Given the description of an element on the screen output the (x, y) to click on. 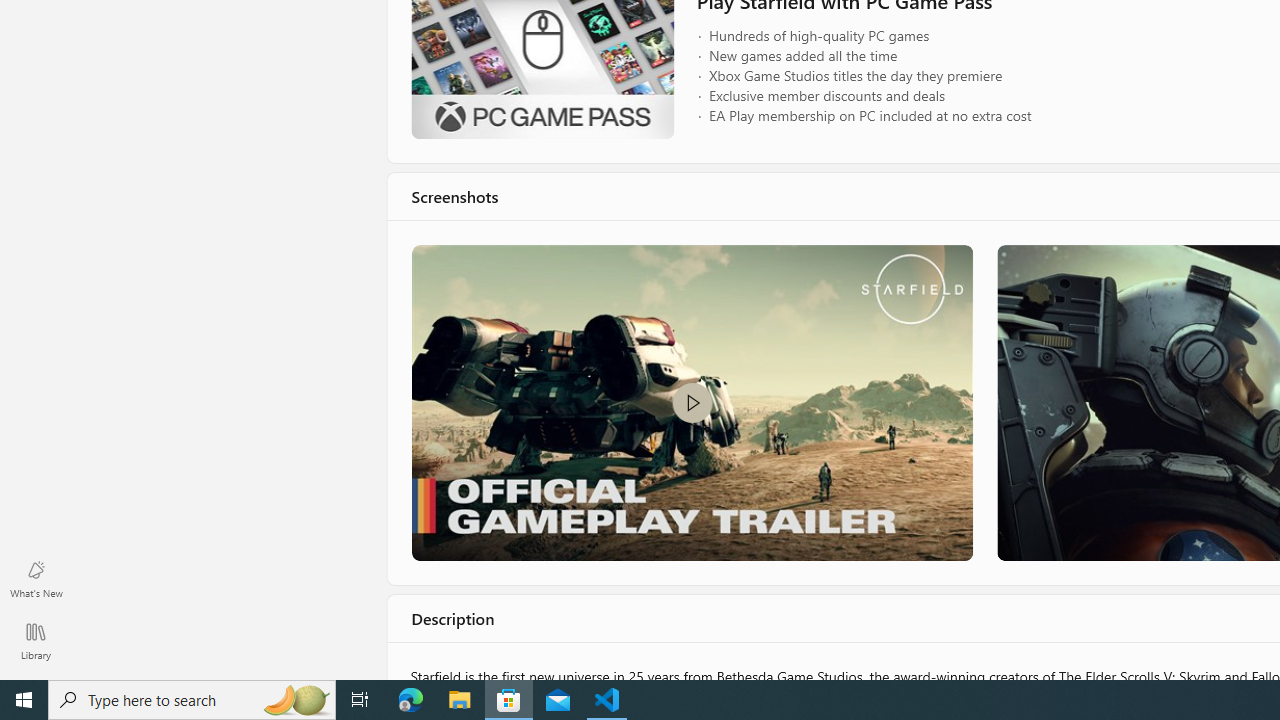
Library (35, 640)
Gameplay Trailer (690, 402)
What's New (35, 578)
